Given the description of an element on the screen output the (x, y) to click on. 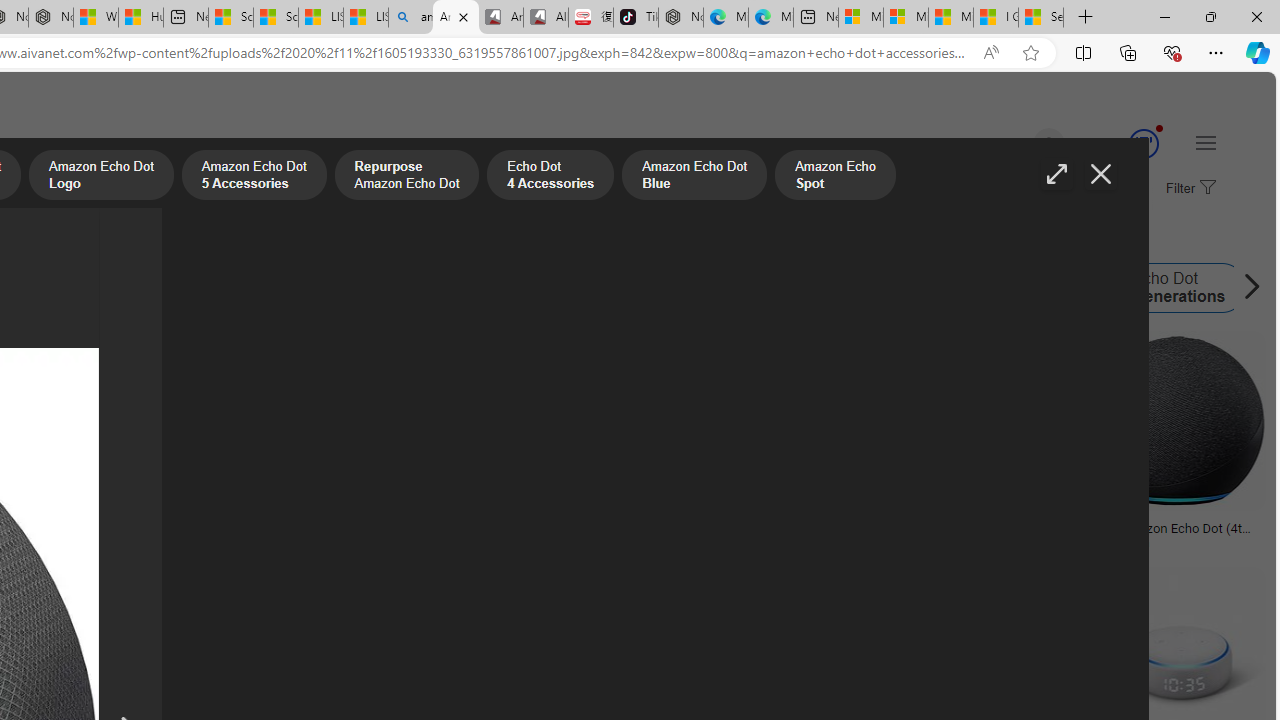
pngkey.com (589, 542)
